Given the description of an element on the screen output the (x, y) to click on. 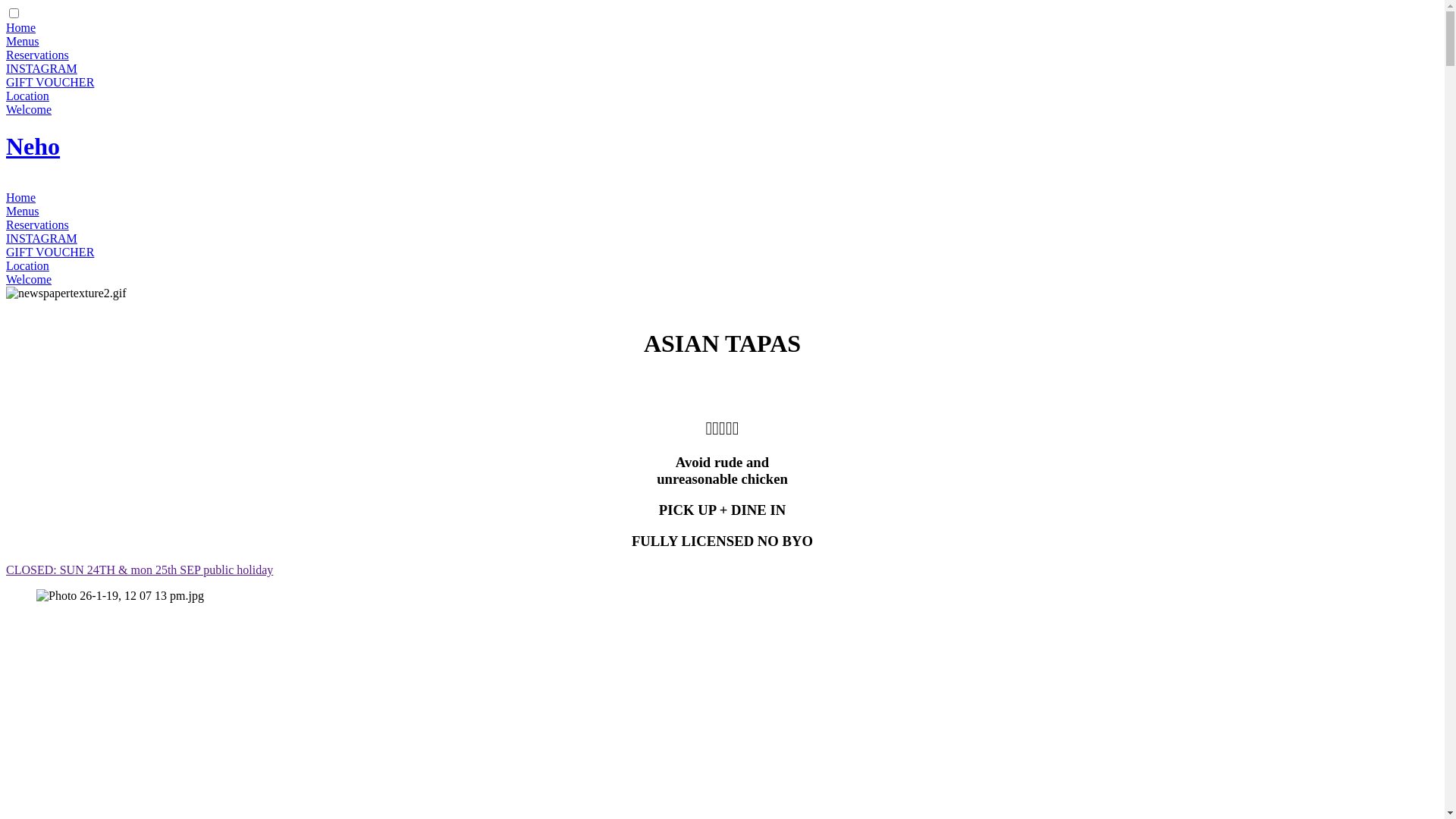
GIFT VOUCHER Element type: text (50, 81)
Location Element type: text (27, 95)
Menus Element type: text (22, 210)
Reservations Element type: text (37, 224)
Home Element type: text (20, 27)
Menus Element type: text (22, 40)
INSTAGRAM Element type: text (41, 68)
Home Element type: text (20, 197)
Welcome Element type: text (28, 279)
Location Element type: text (27, 265)
Welcome Element type: text (28, 109)
Reservations Element type: text (37, 54)
INSTAGRAM Element type: text (41, 238)
GIFT VOUCHER Element type: text (50, 251)
CLOSED: SUN 24TH & mon 25th SEP public holiday Element type: text (139, 569)
Neho Element type: text (32, 146)
